Given the description of an element on the screen output the (x, y) to click on. 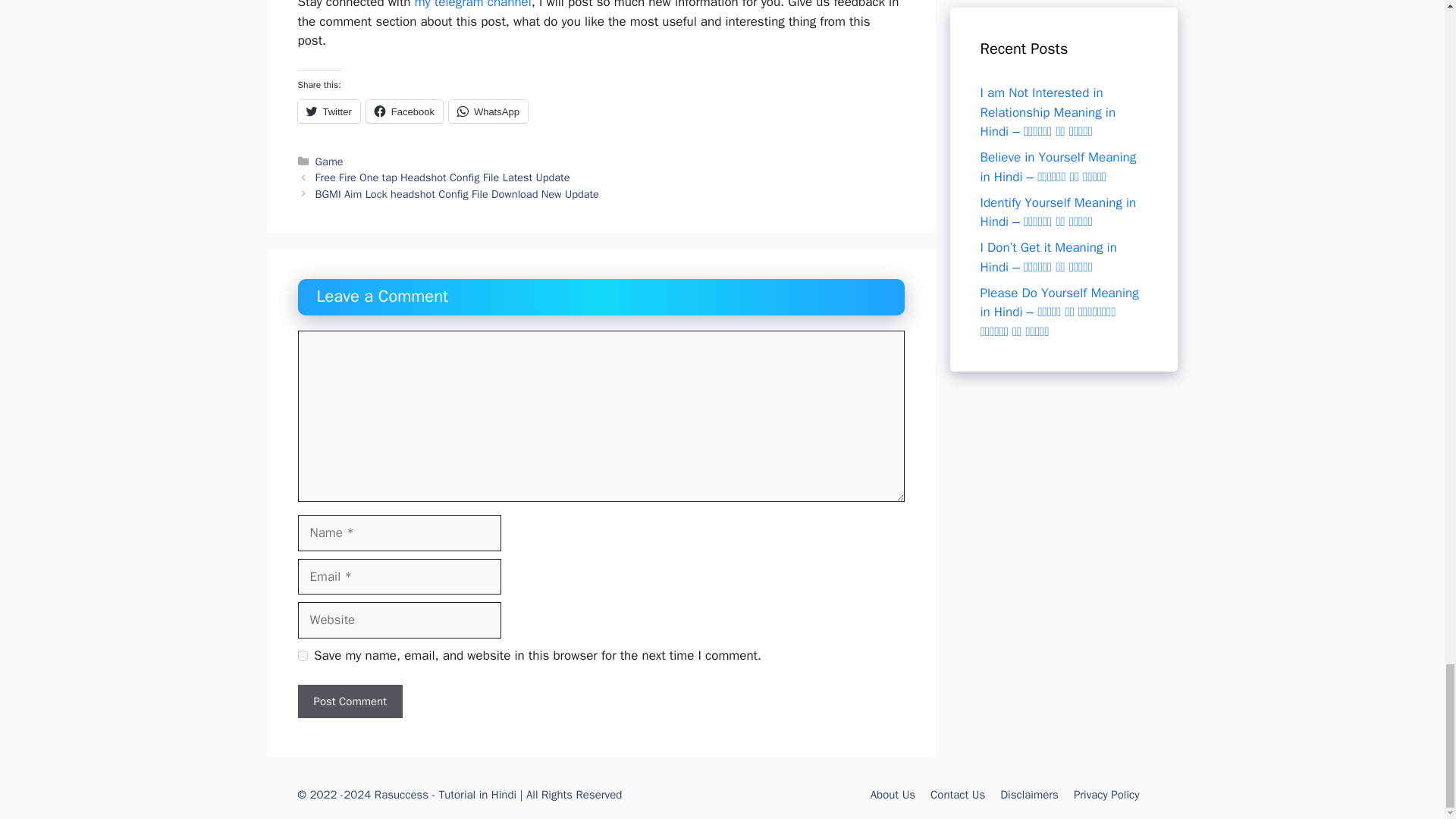
Post Comment (349, 701)
Twitter (328, 110)
Click to share on Facebook (404, 110)
my telegram channel (472, 4)
Game (329, 161)
Click to share on Twitter (328, 110)
Post Comment (349, 701)
WhatsApp (487, 110)
Free Fire One tap Headshot Config File Latest Update (442, 177)
Facebook (404, 110)
BGMI Aim Lock headshot Config File Download New Update (456, 193)
Contact Us (957, 794)
Disclaimers (1029, 794)
About Us (892, 794)
yes (302, 655)
